Given the description of an element on the screen output the (x, y) to click on. 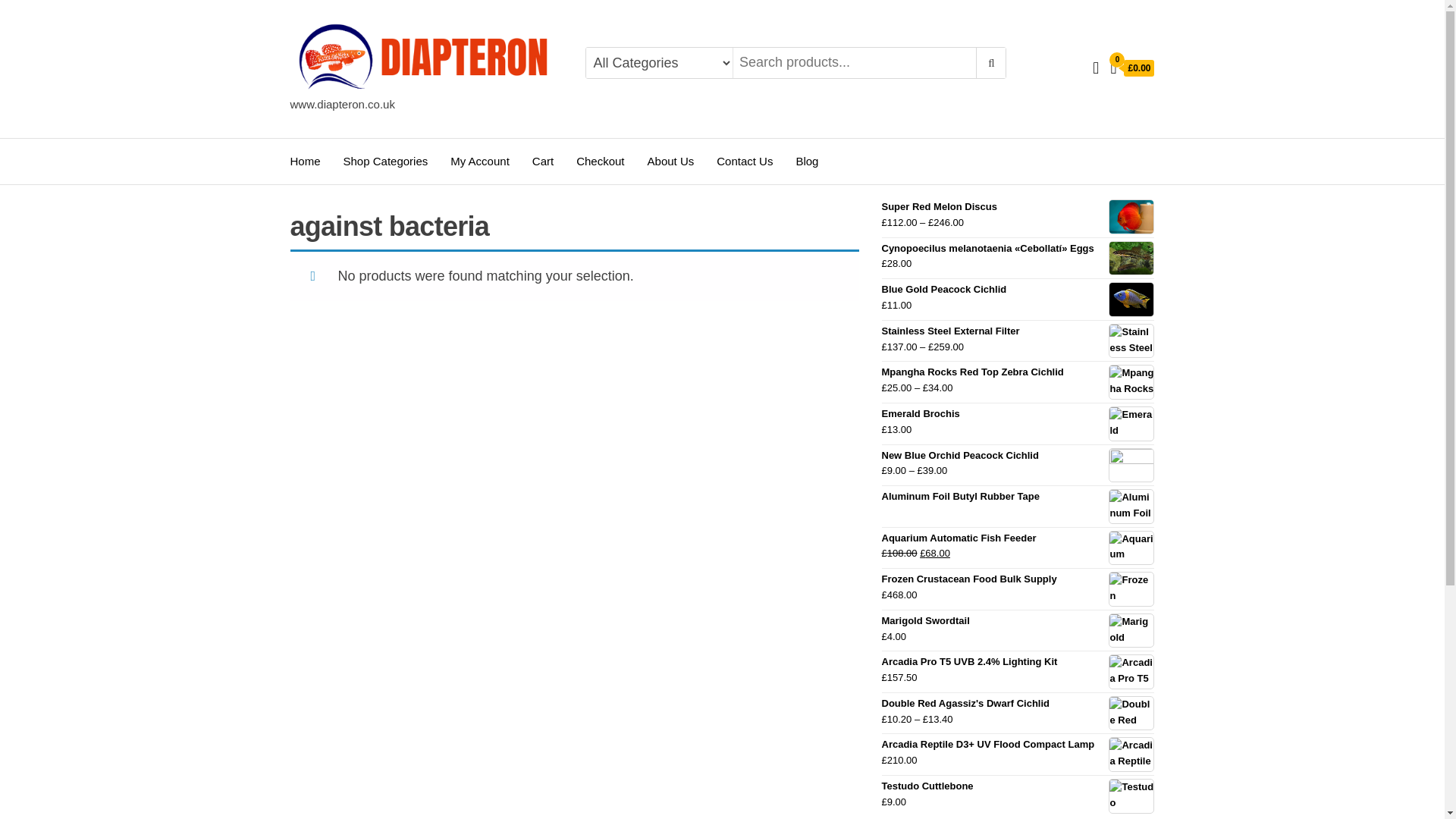
Diapteron Shop (338, 116)
My Account (1096, 67)
My Account (480, 161)
Cart (542, 161)
Testudo Cuttlebone (1017, 786)
About Us (671, 161)
View your shopping cart (1131, 68)
Shop Categories (385, 161)
Contact Us (744, 161)
Aquarium Automatic Fish Feeder (1017, 538)
Marigold Swordtail (1017, 621)
Shop Categories (385, 161)
Double Red Agassiz's Dwarf Cichlid (1017, 703)
Emerald Brochis (1017, 414)
About Us (671, 161)
